Given the description of an element on the screen output the (x, y) to click on. 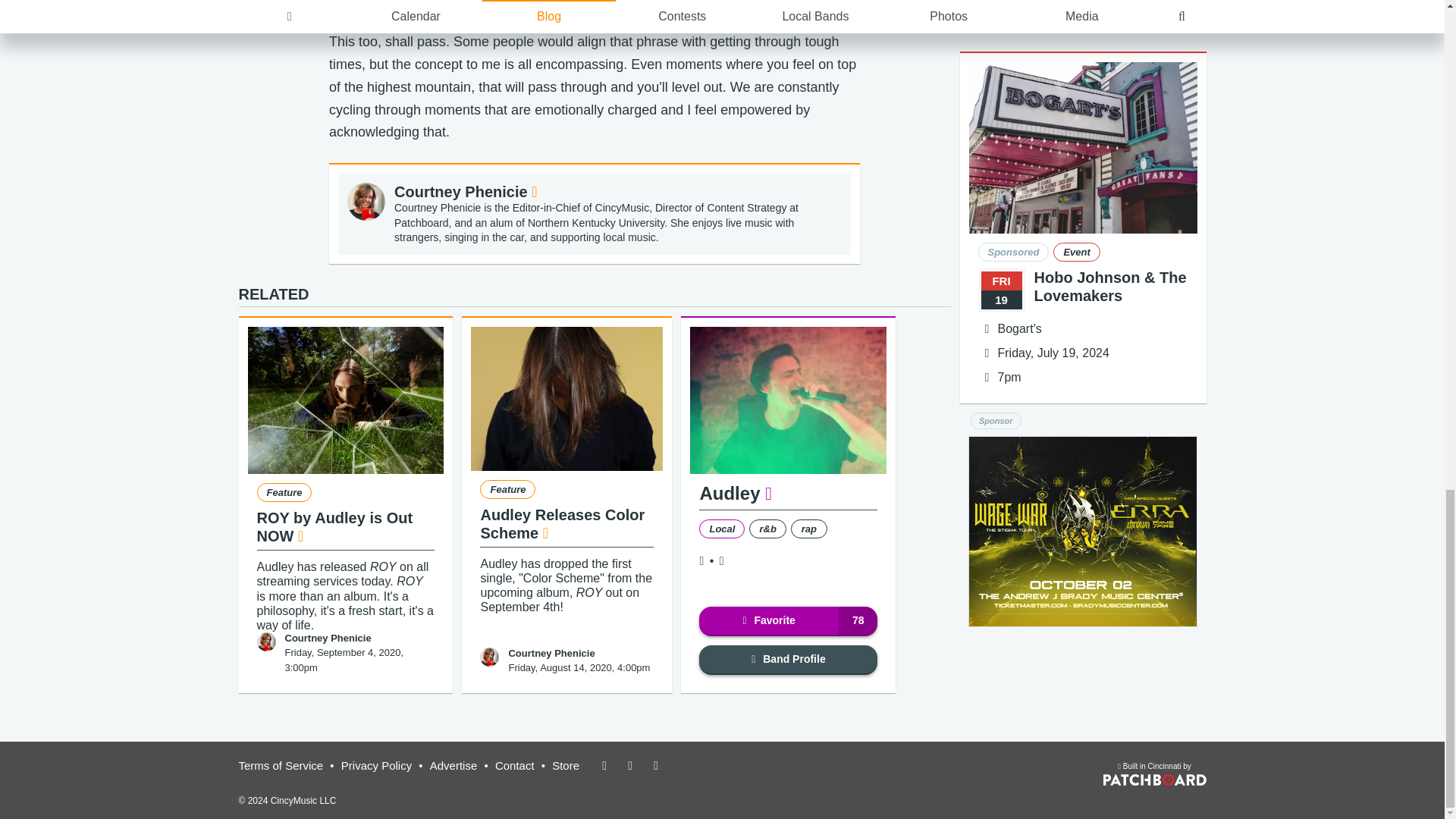
Band Profile (787, 659)
Facebook (700, 560)
Audley  (734, 493)
Courtney Phenicie  (465, 191)
Twitter (721, 560)
